Given the description of an element on the screen output the (x, y) to click on. 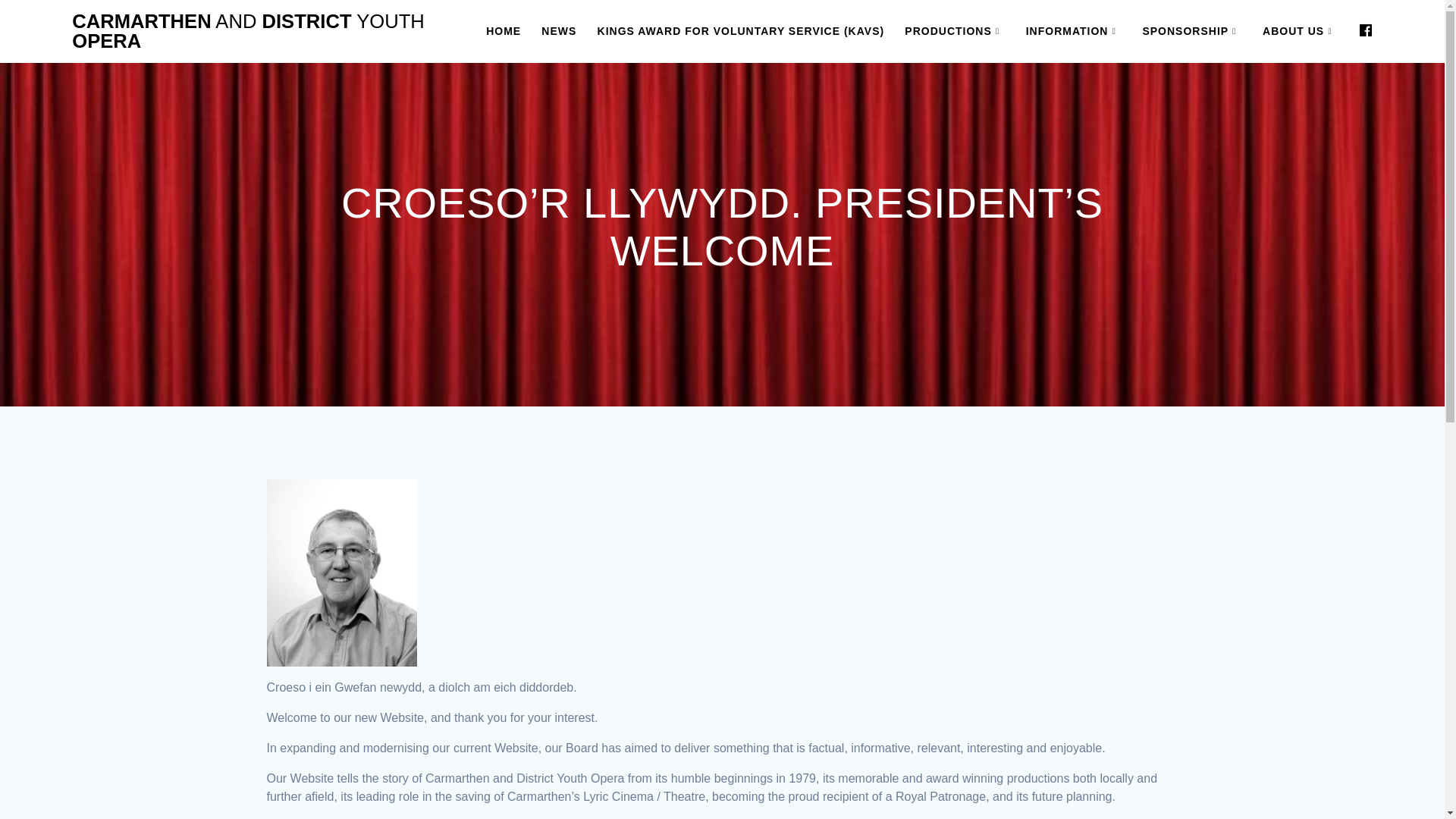
NEWS (558, 30)
PRODUCTIONS (954, 30)
HOME (503, 30)
CARMARTHEN AND DISTRICT YOUTH OPERA (258, 31)
